Given the description of an element on the screen output the (x, y) to click on. 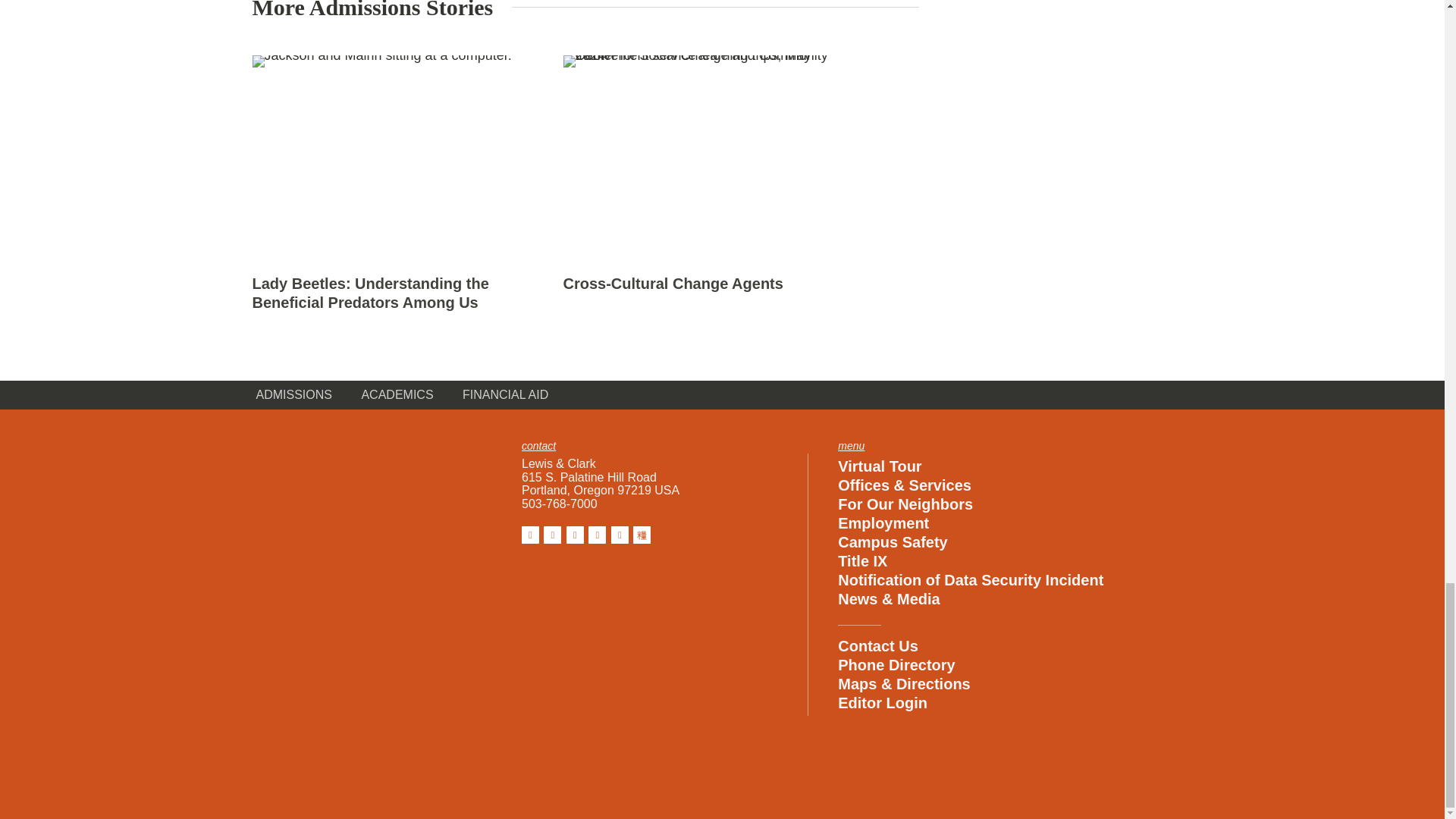
View our Facebook page (529, 534)
View our LinkedIn (596, 534)
View our Instagram (551, 534)
View our Twitter (574, 534)
View our TikTok (641, 534)
View our YouTube (619, 534)
Cross-Cultural Change Agents (672, 283)
